Given the description of an element on the screen output the (x, y) to click on. 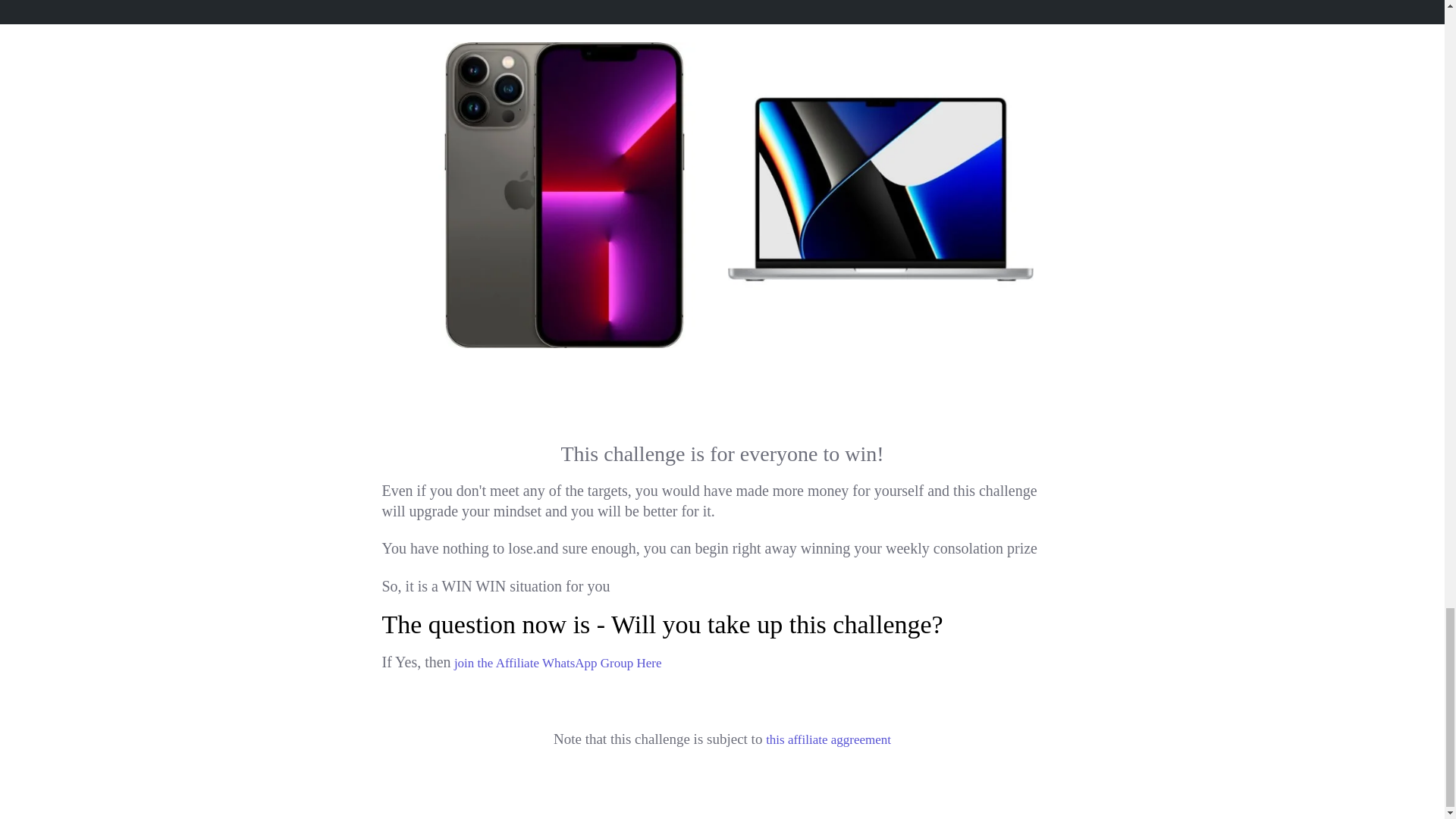
iphone 13 promax (563, 195)
this affiliate aggreement (828, 739)
 join the Affiliate WhatsApp Group Here (556, 662)
Apple Macbook Pro M1chip (880, 189)
